Given the description of an element on the screen output the (x, y) to click on. 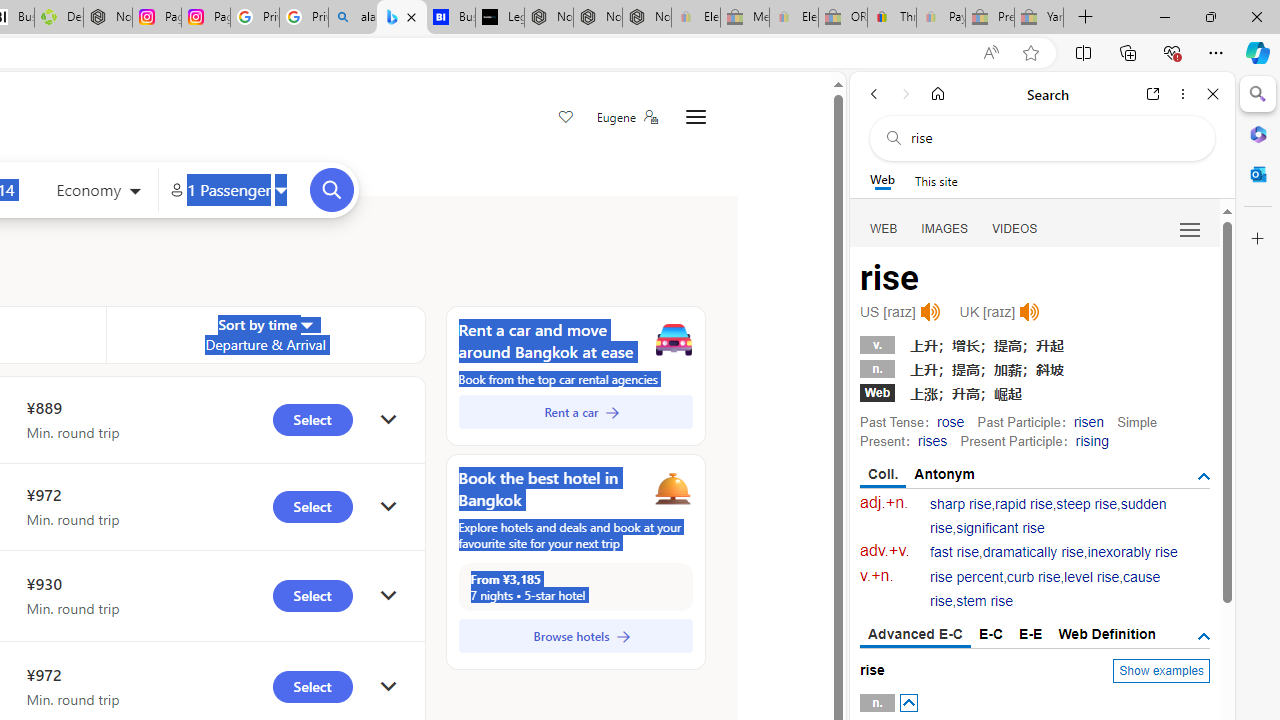
Descarga Driver Updater (58, 17)
level rise (1091, 577)
Sort by time Sorter Departure & Arrival (265, 334)
Web scope (882, 180)
inexorably rise (1131, 552)
Class: b_serphb (1190, 229)
Preferences (1189, 228)
